Given the description of an element on the screen output the (x, y) to click on. 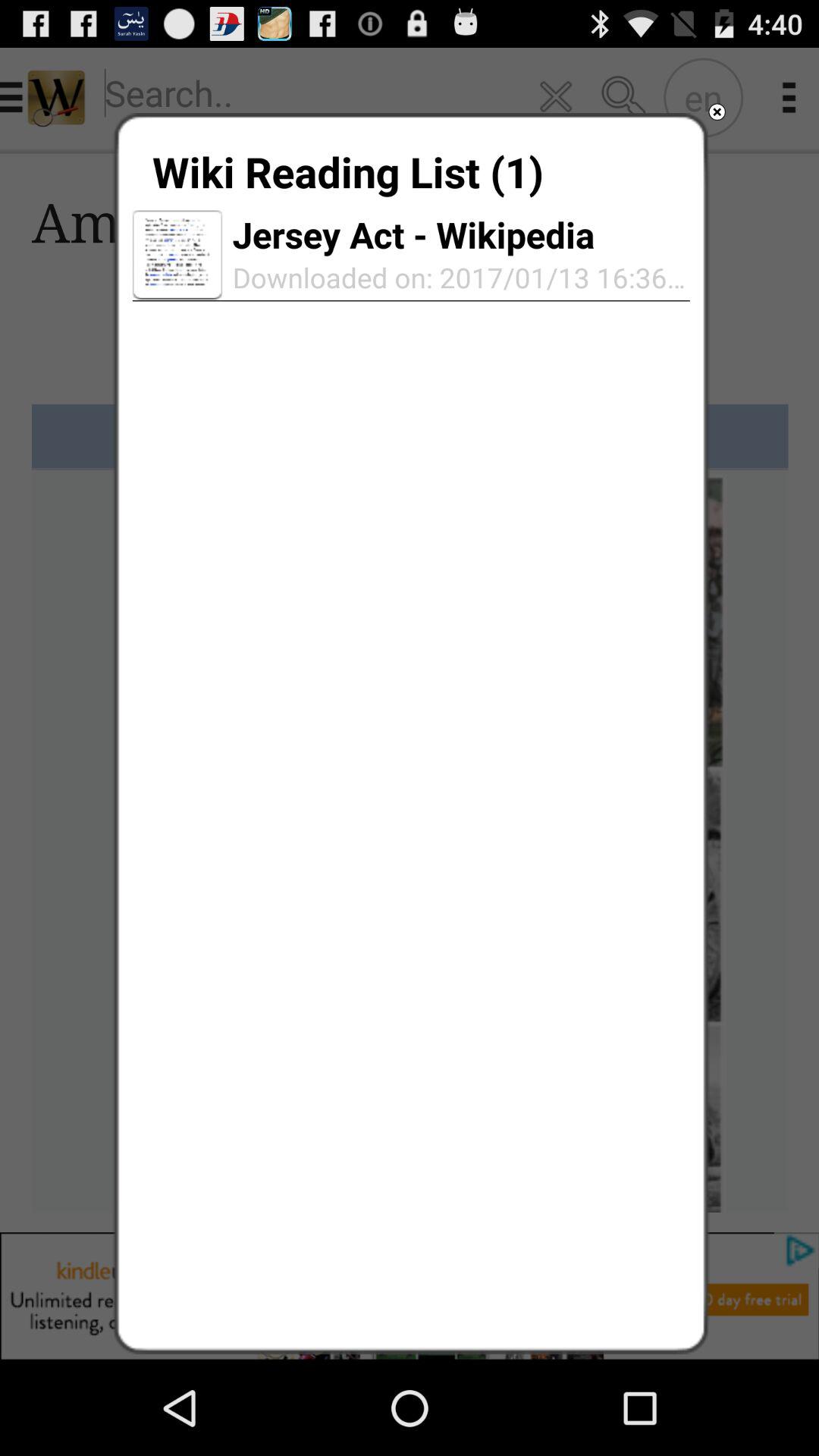
click item above downloaded on 2017 item (413, 234)
